Given the description of an element on the screen output the (x, y) to click on. 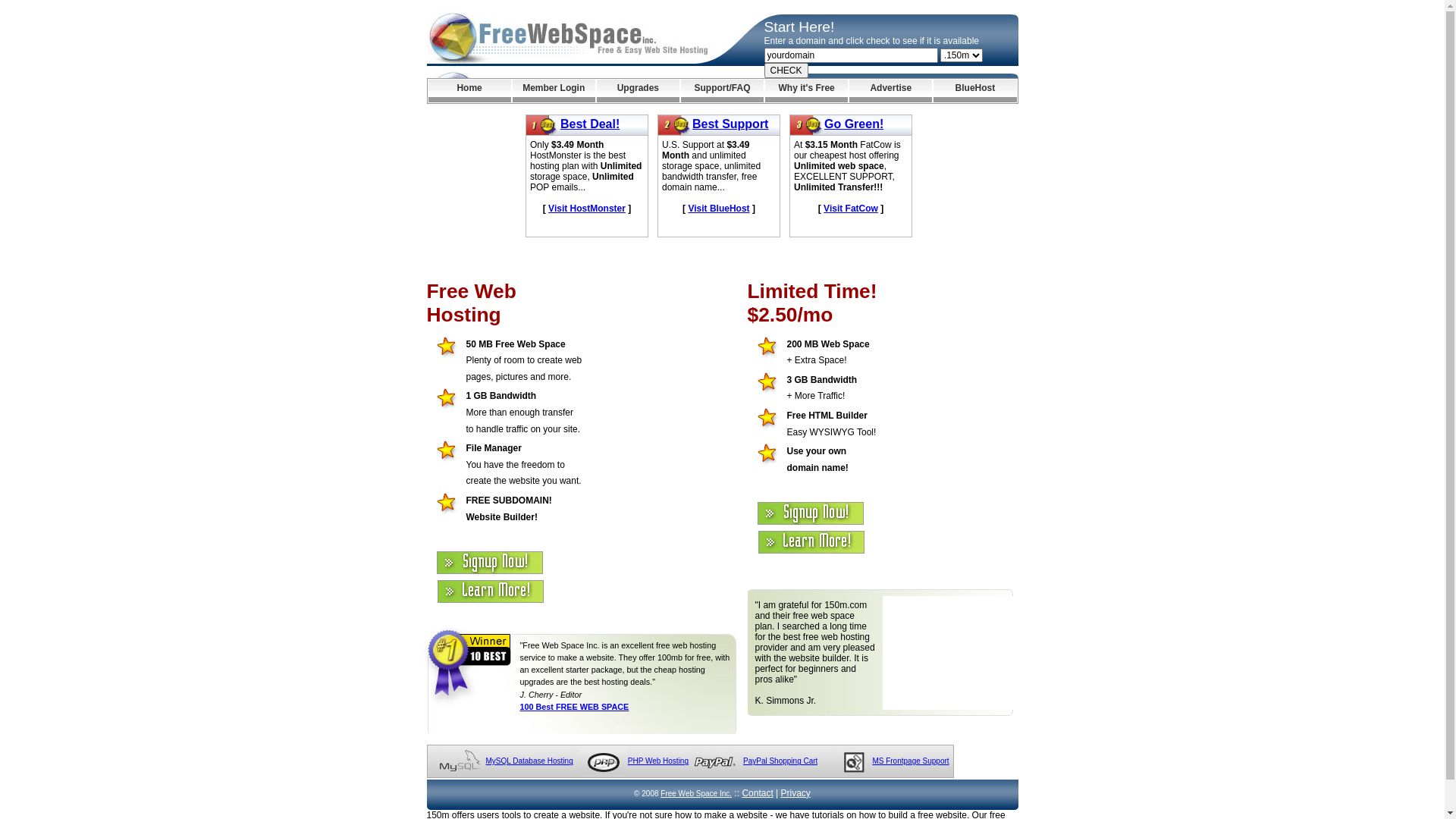
Upgrades Element type: text (637, 90)
PHP Web Hosting Element type: text (657, 760)
PayPal Shopping Cart Element type: text (780, 760)
Free Web Space Inc. Element type: text (695, 793)
100 Best FREE WEB SPACE Element type: text (574, 706)
Home Element type: text (468, 90)
Support/FAQ Element type: text (721, 90)
BlueHost Element type: text (974, 90)
Privacy Element type: text (795, 792)
MySQL Database Hosting Element type: text (528, 760)
Contact Element type: text (756, 792)
Advertise Element type: text (890, 90)
Why it's Free Element type: text (806, 90)
CHECK Element type: text (786, 70)
Member Login Element type: text (553, 90)
MS Frontpage Support Element type: text (910, 760)
